Given the description of an element on the screen output the (x, y) to click on. 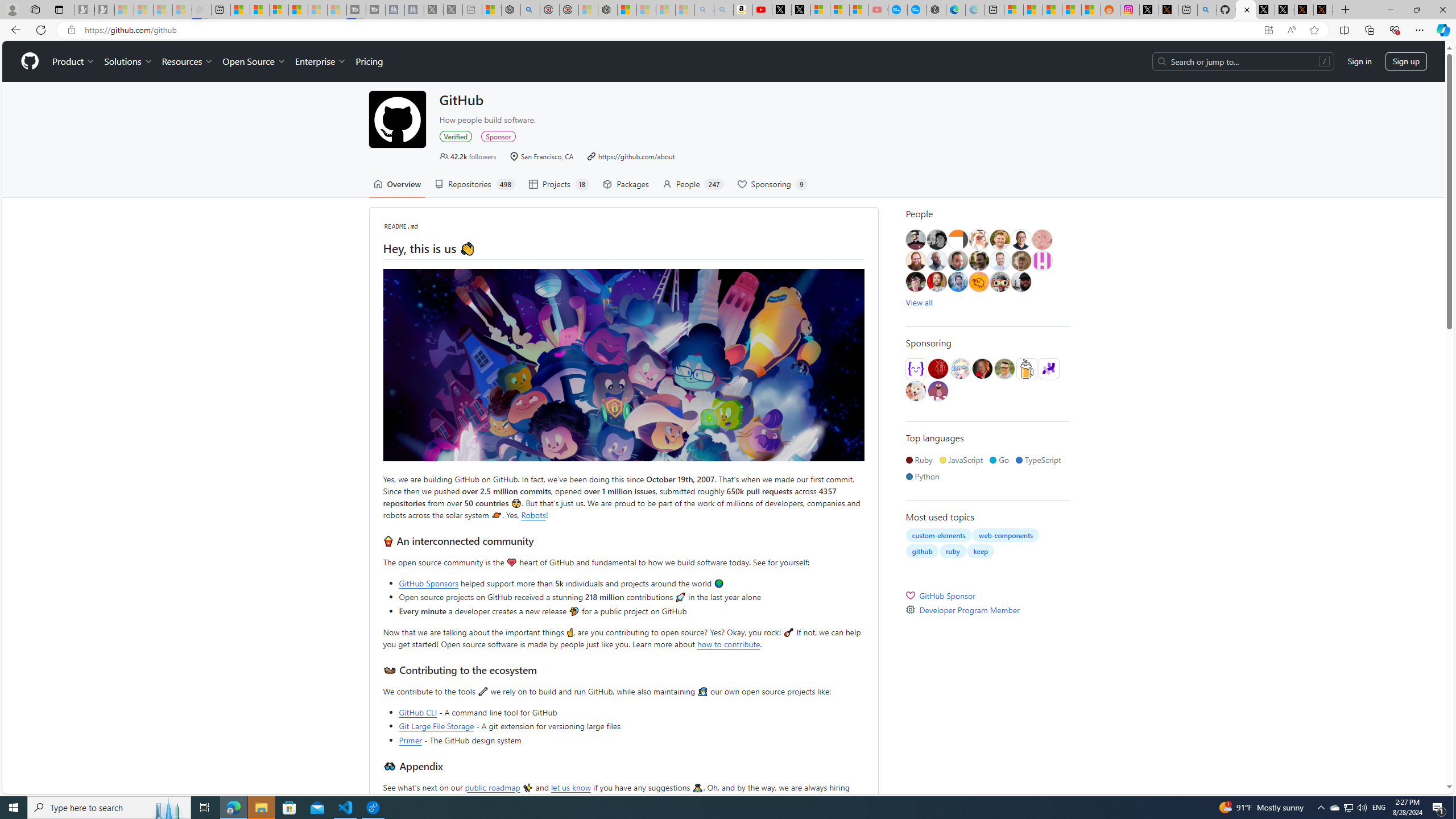
Profile / X (1264, 9)
GitHub Sponsor (987, 594)
@knsv (982, 368)
@processing (1048, 368)
@kdaigle (1020, 239)
@exercism (915, 368)
